Given the description of an element on the screen output the (x, y) to click on. 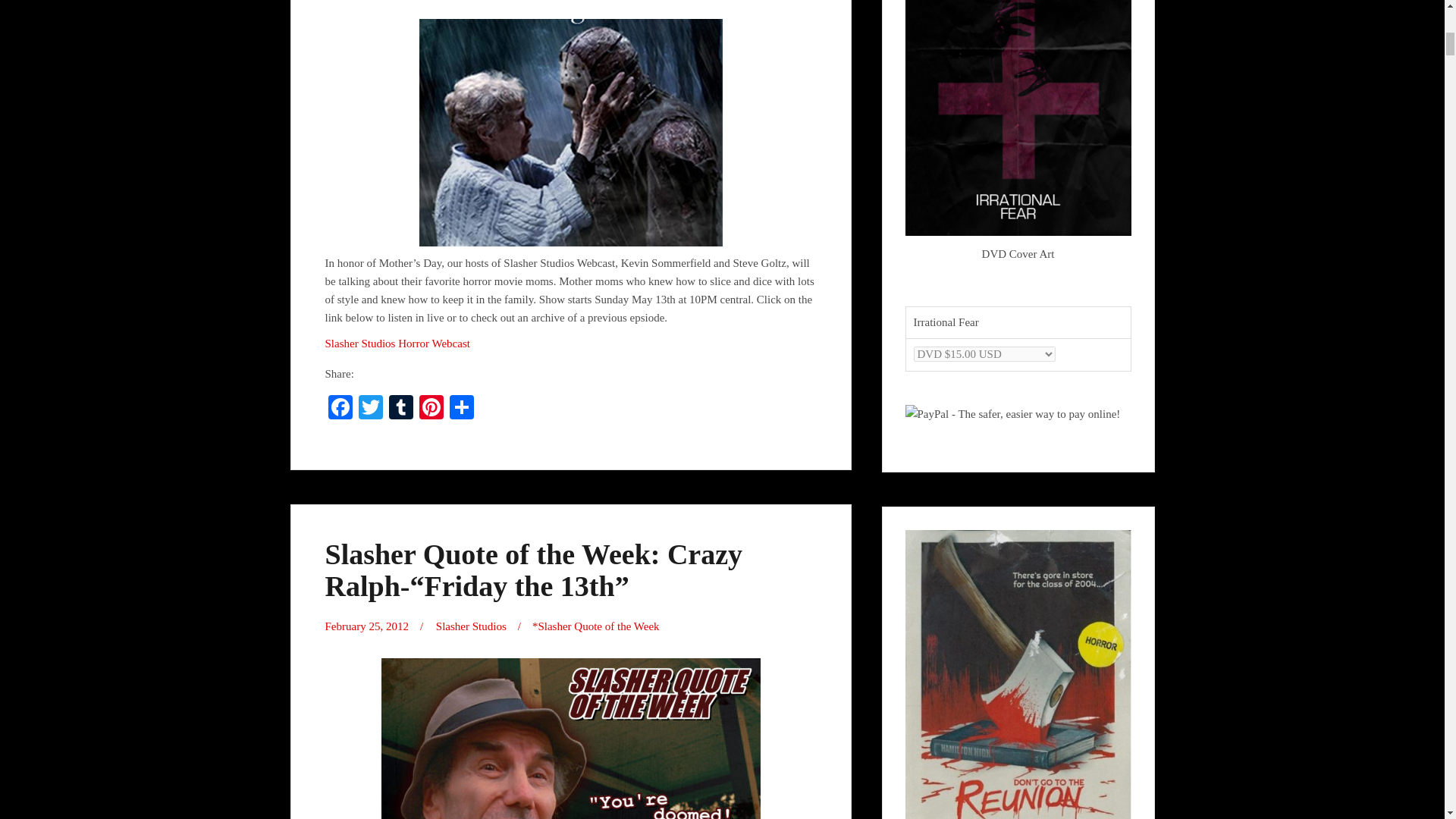
Share (460, 408)
Facebook (339, 408)
Tumblr (399, 408)
Twitter (370, 408)
Pinterest (429, 408)
Twitter (370, 408)
February 25, 2012 (365, 625)
Pinterest (429, 408)
Facebook (339, 408)
Slasher Studios Horror Webcast (396, 343)
Slasher Studios (470, 625)
Tumblr (399, 408)
